Given the description of an element on the screen output the (x, y) to click on. 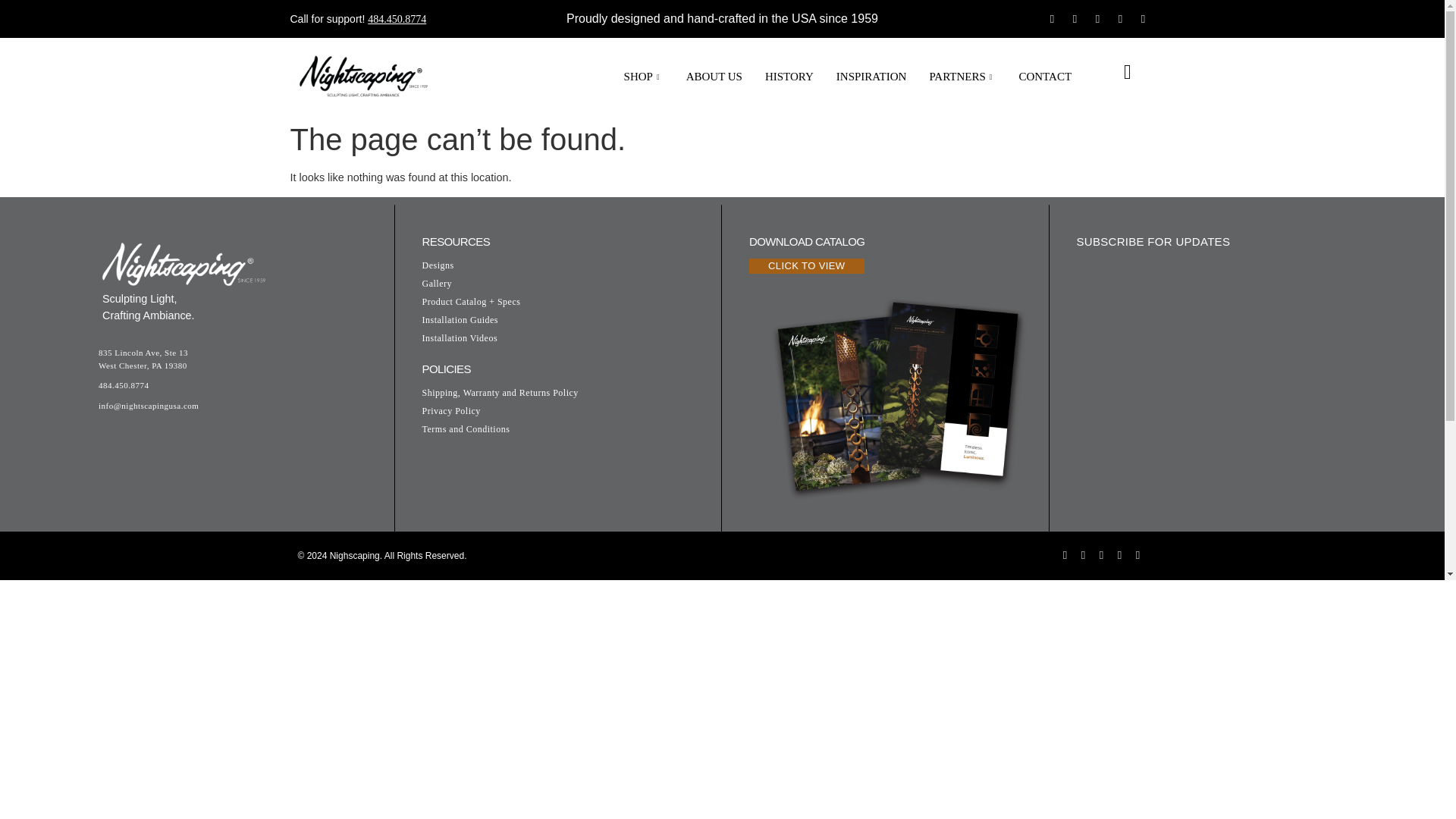
484.450.8774 (397, 19)
SHOP (643, 76)
Form 0 (1227, 384)
